Given the description of an element on the screen output the (x, y) to click on. 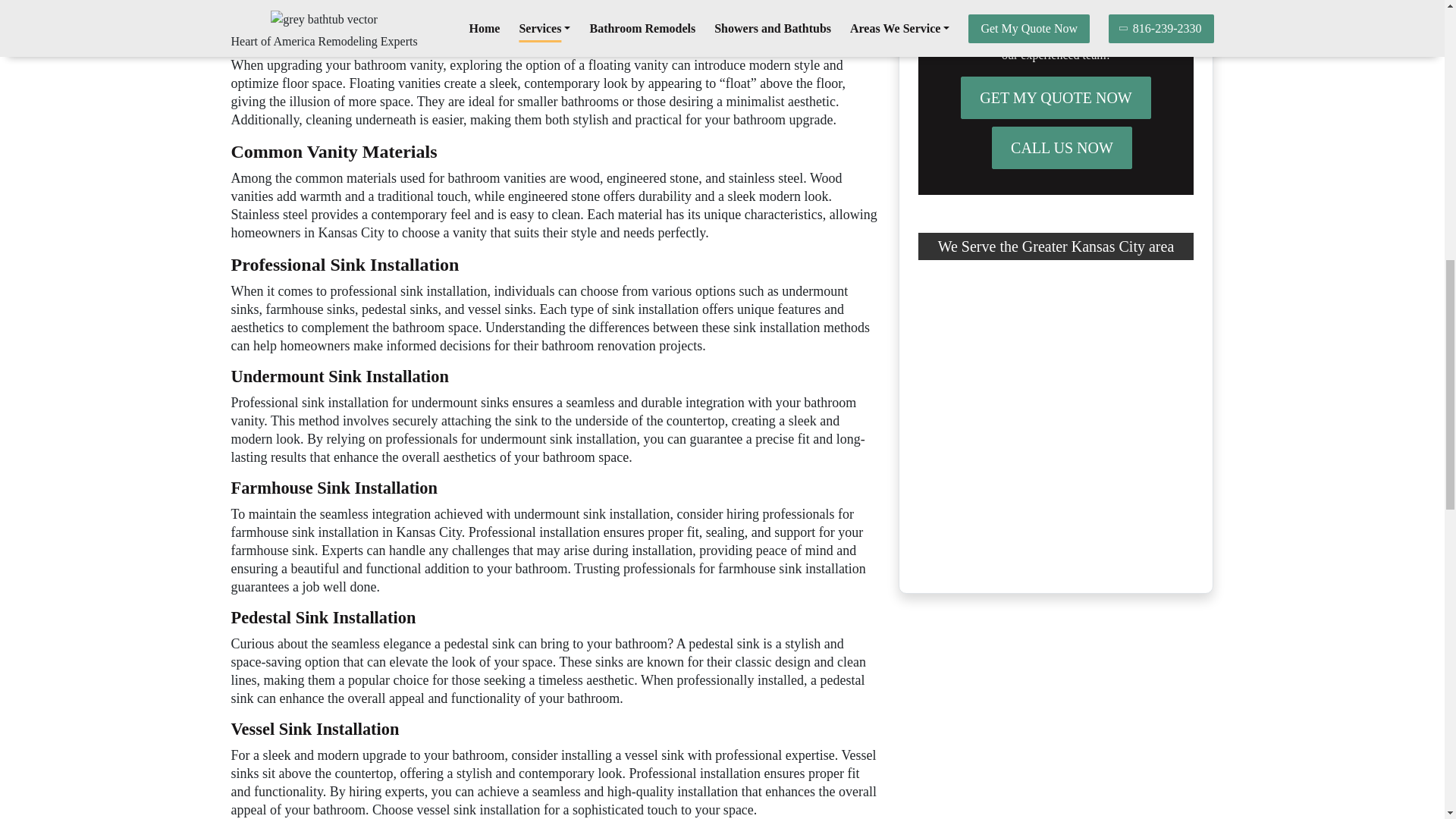
GET MY QUOTE NOW (1055, 97)
CALL US NOW (1061, 147)
